Given the description of an element on the screen output the (x, y) to click on. 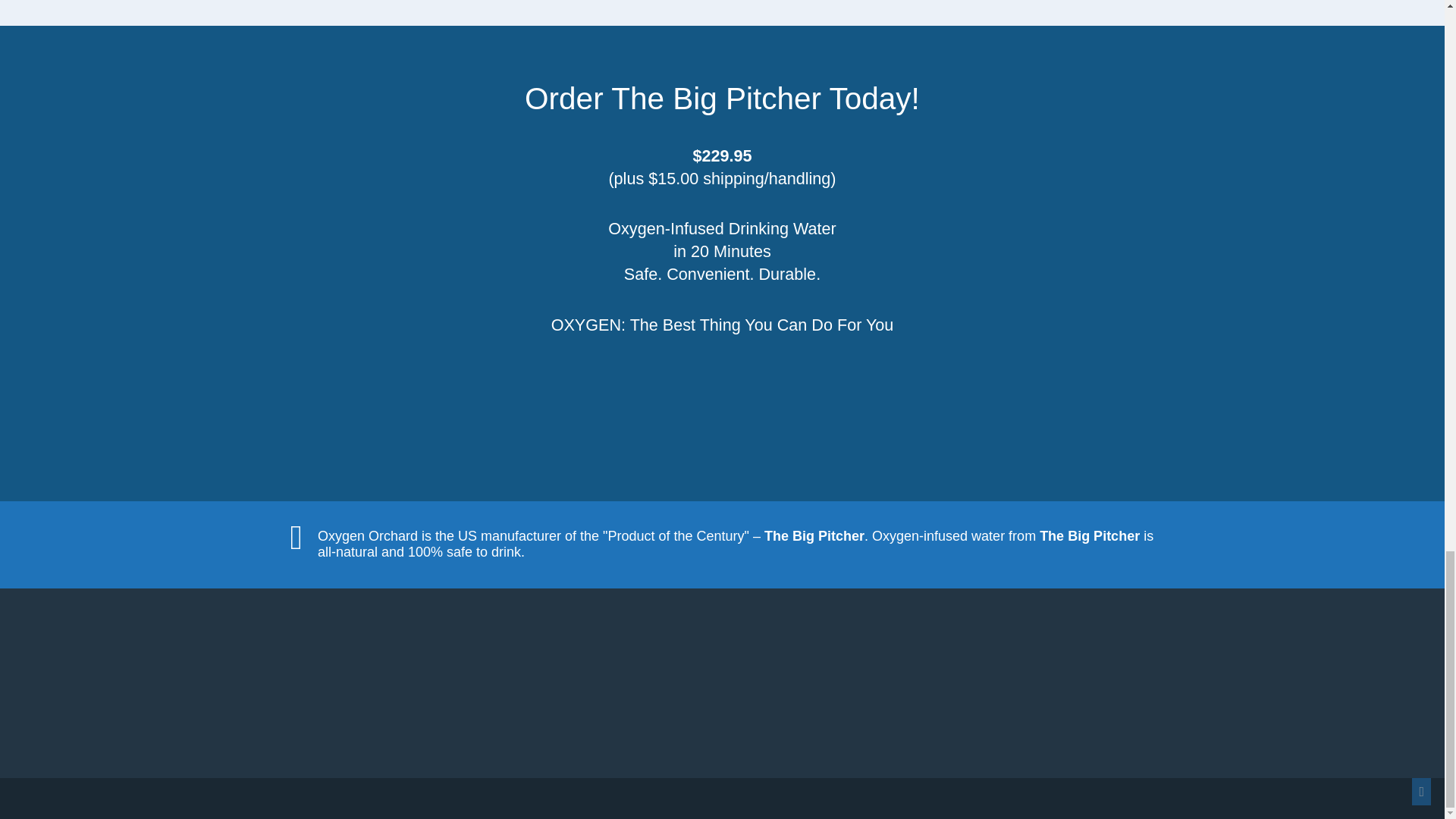
PayPal (721, 403)
